Given the description of an element on the screen output the (x, y) to click on. 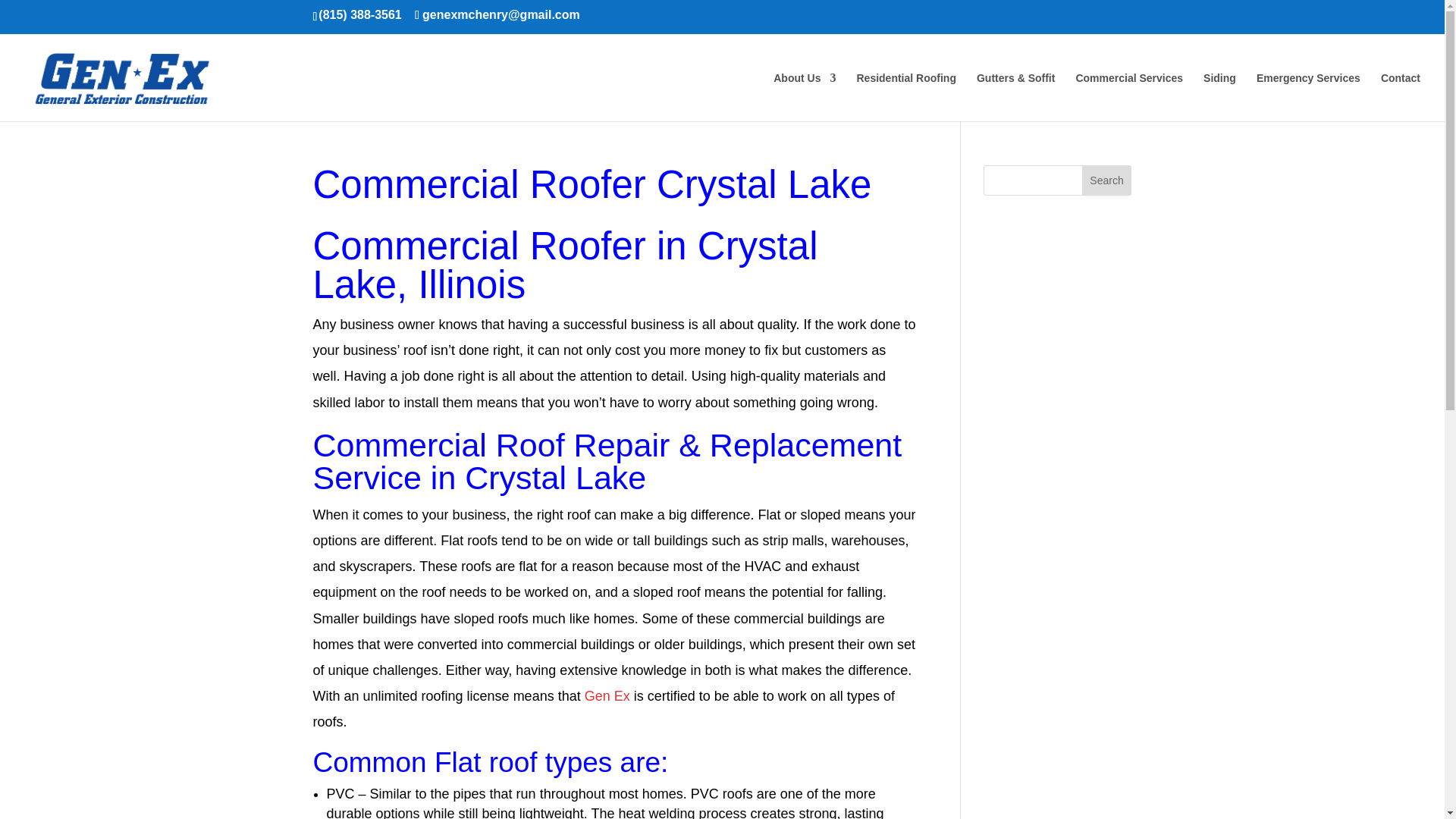
Emergency Services (1307, 96)
Search (1106, 180)
Search (1106, 180)
Gen Ex (607, 695)
Siding (1220, 96)
Residential Roofing (905, 96)
Contact (1400, 96)
Commercial Services (1128, 96)
About Us (804, 96)
